Given the description of an element on the screen output the (x, y) to click on. 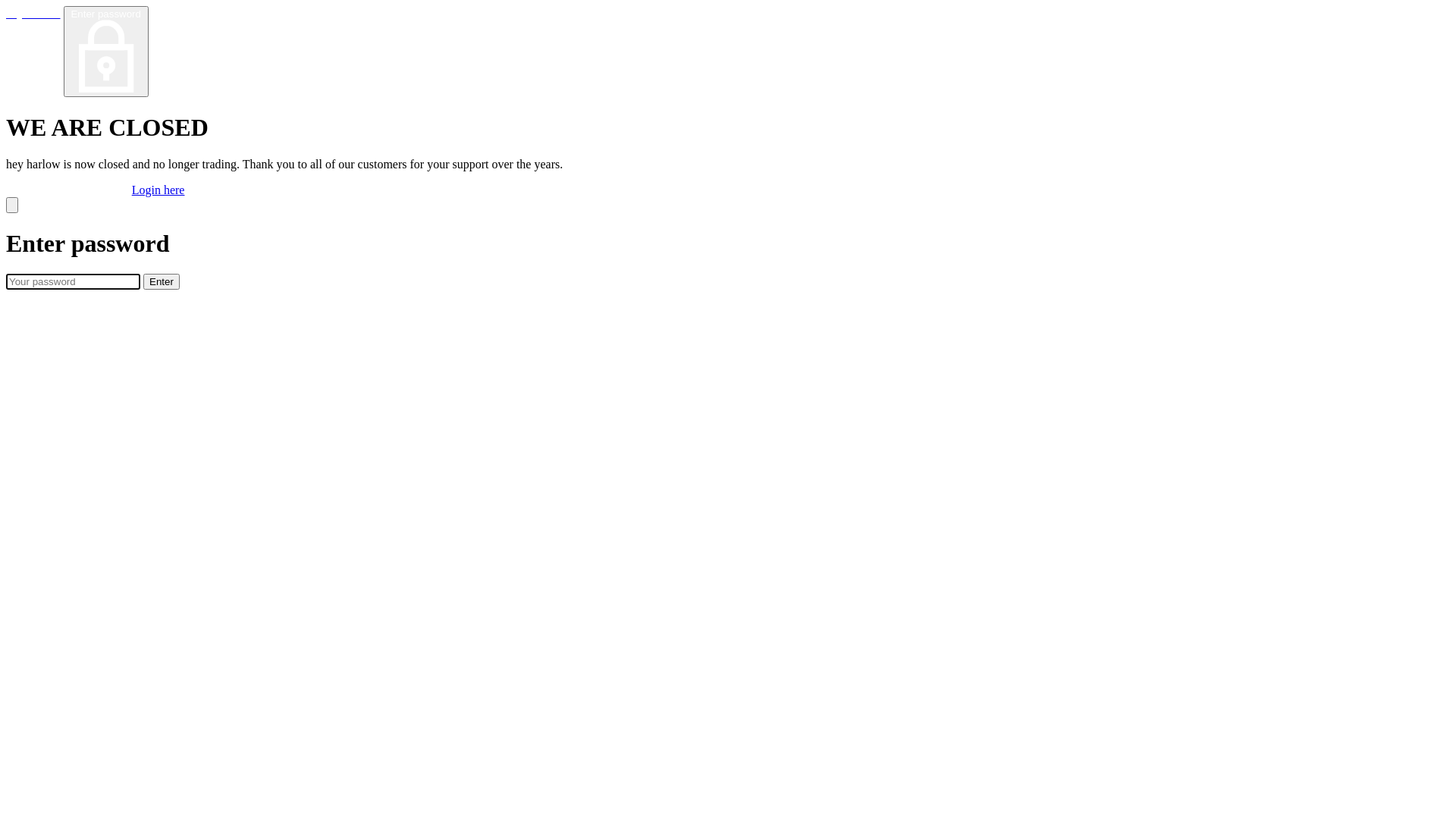
Enter password Element type: text (105, 51)
Enter Element type: text (161, 281)
Login here Element type: text (158, 189)
hey harlow Element type: text (33, 12)
